Given the description of an element on the screen output the (x, y) to click on. 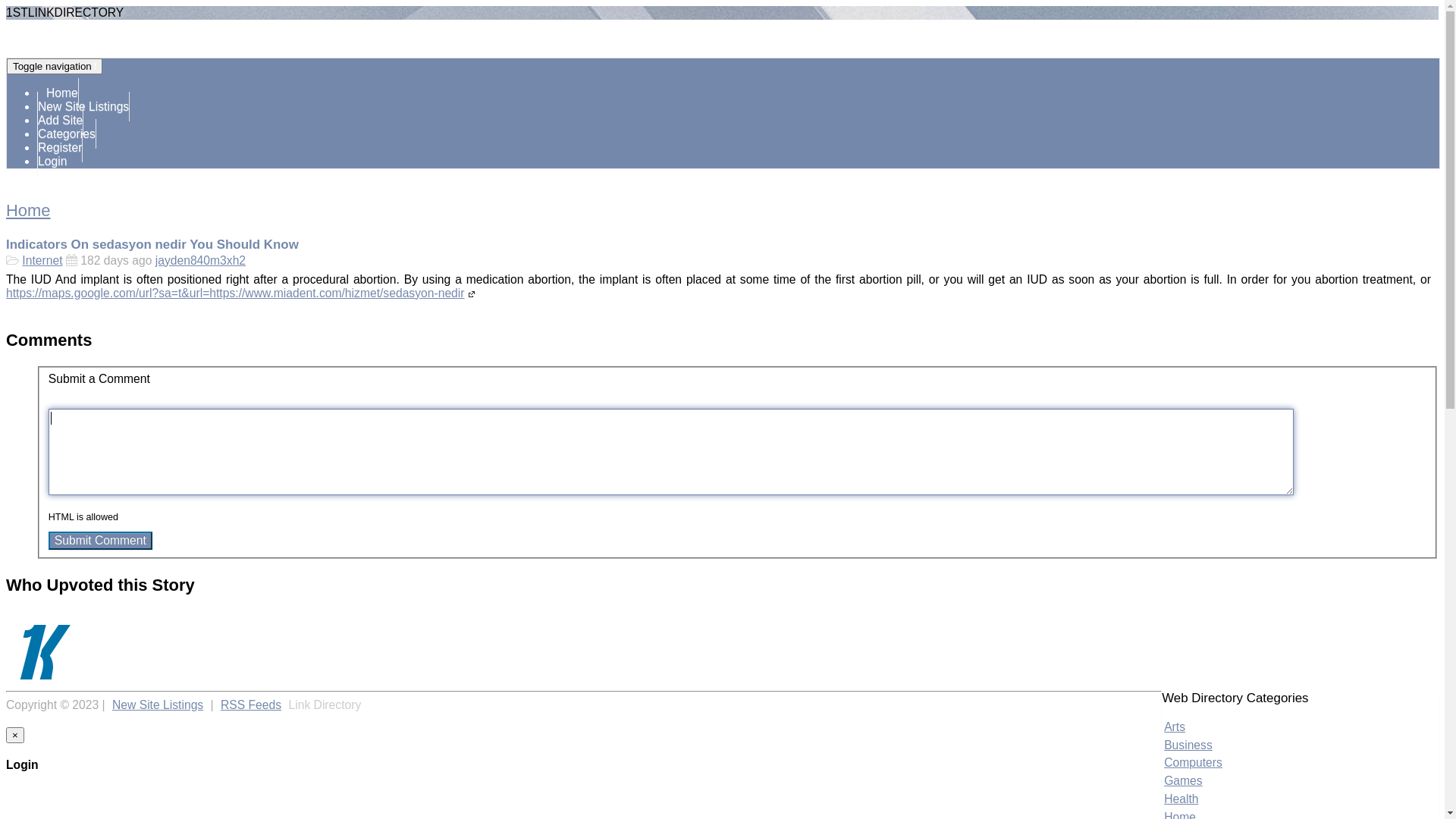
Home Element type: text (28, 209)
Arts Element type: text (1174, 726)
Games Element type: text (1183, 780)
Internet Element type: text (41, 260)
Submit Comment Element type: text (100, 540)
Health Element type: text (1181, 798)
jayden840m3xh2 Element type: text (200, 260)
jayden840m3xh2 Element type: hover (45, 619)
New Site Listings Element type: text (83, 106)
1STLINKDIRECTORY Element type: text (64, 12)
New Site Listings Element type: text (157, 704)
Computers Element type: text (1193, 762)
Register Element type: text (59, 147)
Home Element type: text (57, 92)
Add Site Element type: text (60, 119)
RSS Feeds Element type: text (250, 704)
Toggle navigation Element type: text (54, 66)
Login Element type: text (51, 160)
Business Element type: text (1188, 744)
Categories Element type: text (66, 133)
